Given the description of an element on the screen output the (x, y) to click on. 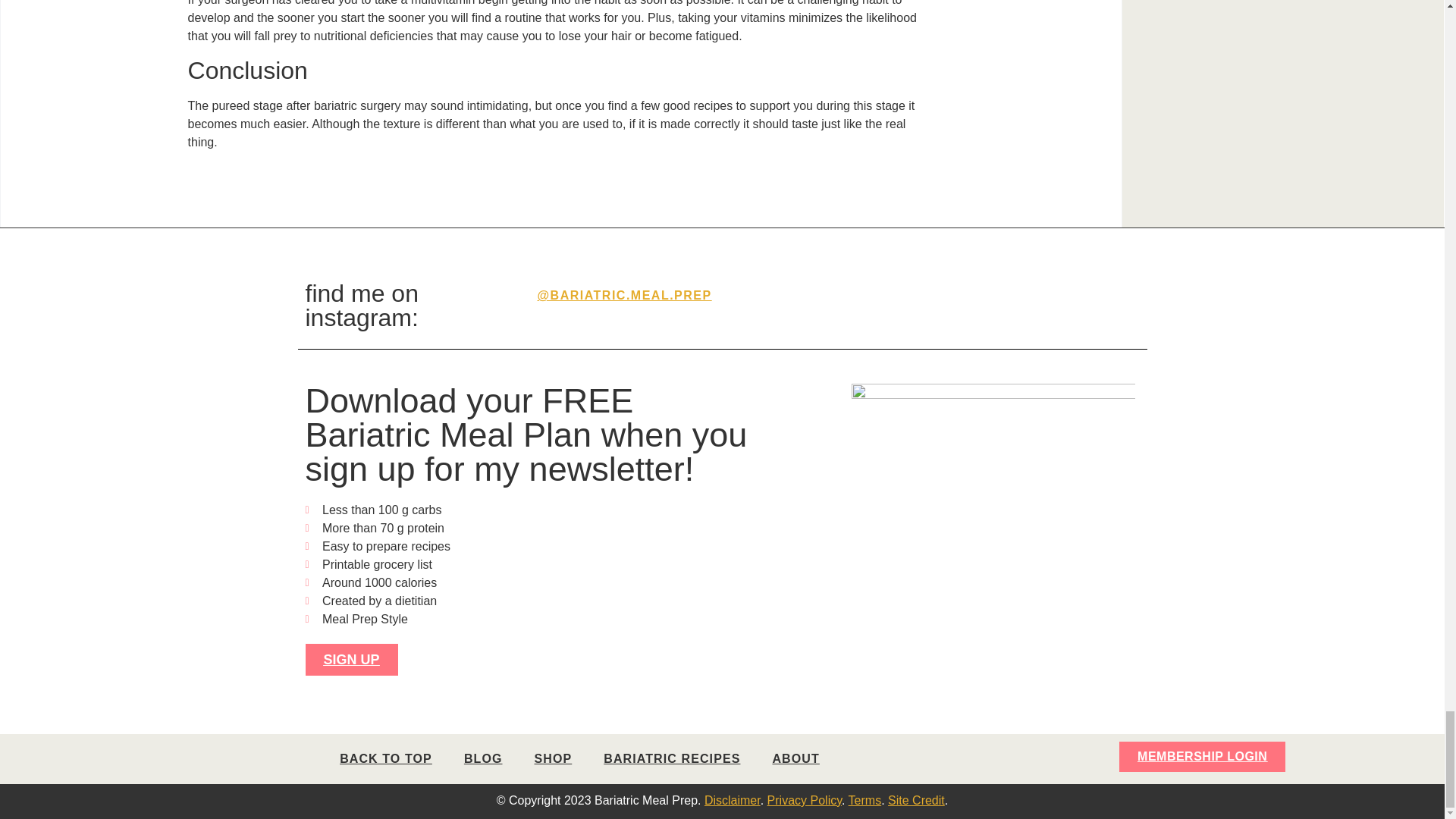
BACK TO TOP (385, 759)
BLOG (483, 759)
SHOP (553, 759)
ABOUT (794, 759)
SIGN UP (350, 659)
BARIATRIC RECIPES (671, 759)
